Given the description of an element on the screen output the (x, y) to click on. 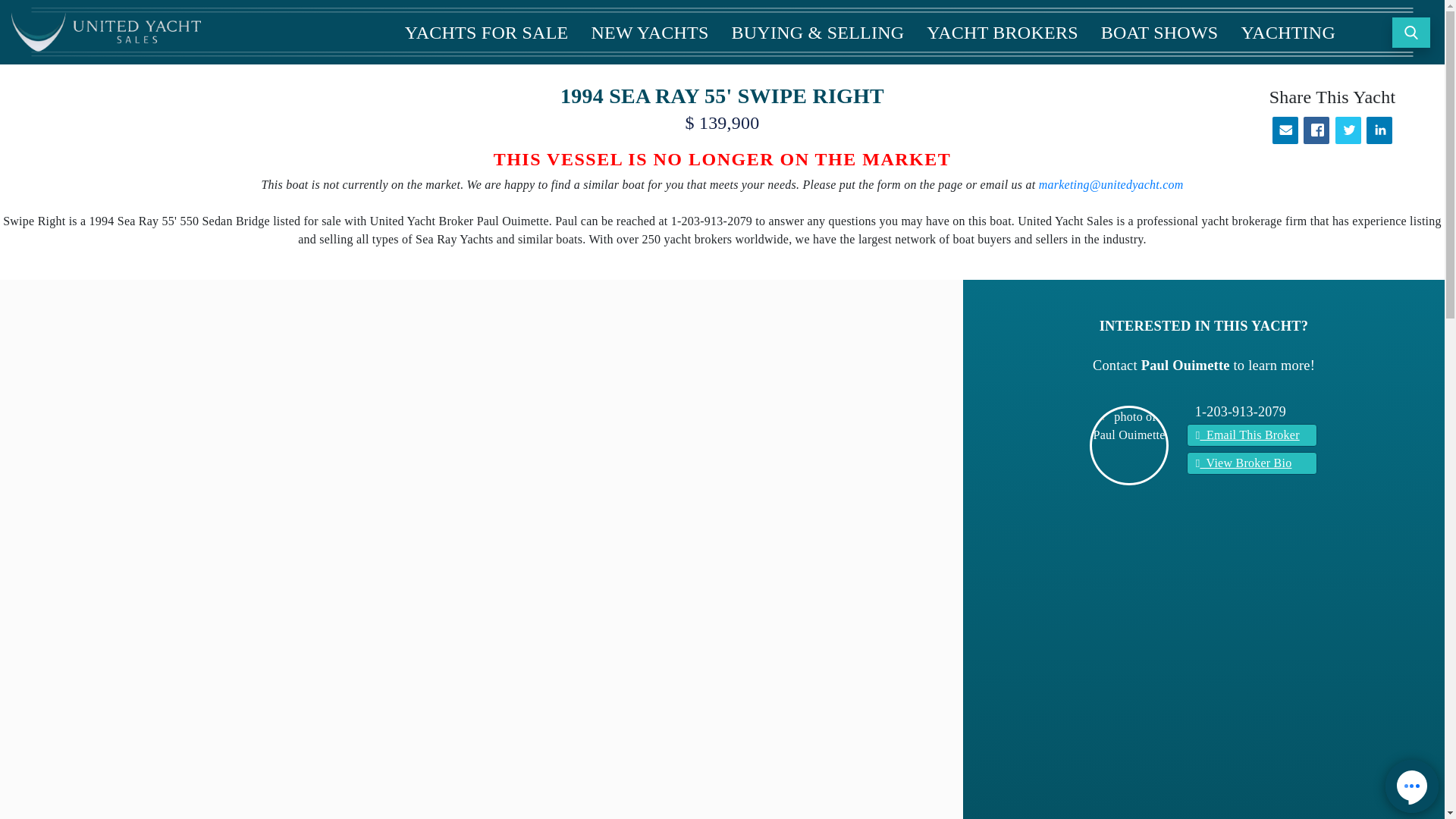
United Yacht Sales website (105, 32)
Paul Ouimette (1129, 426)
